Given the description of an element on the screen output the (x, y) to click on. 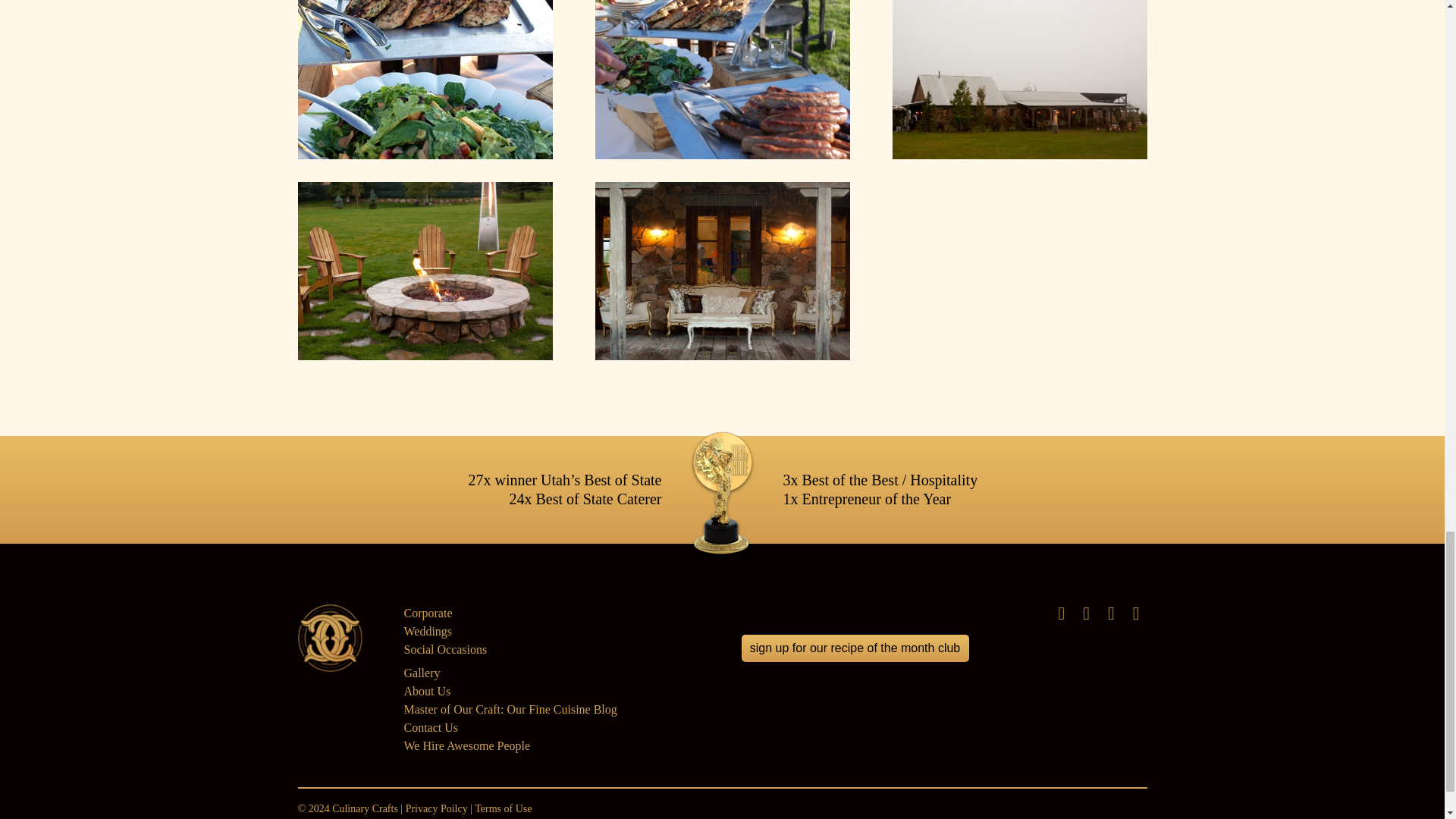
Corporate (427, 612)
Gallery (421, 672)
Social Occasions (444, 649)
Weddings (427, 631)
